Given the description of an element on the screen output the (x, y) to click on. 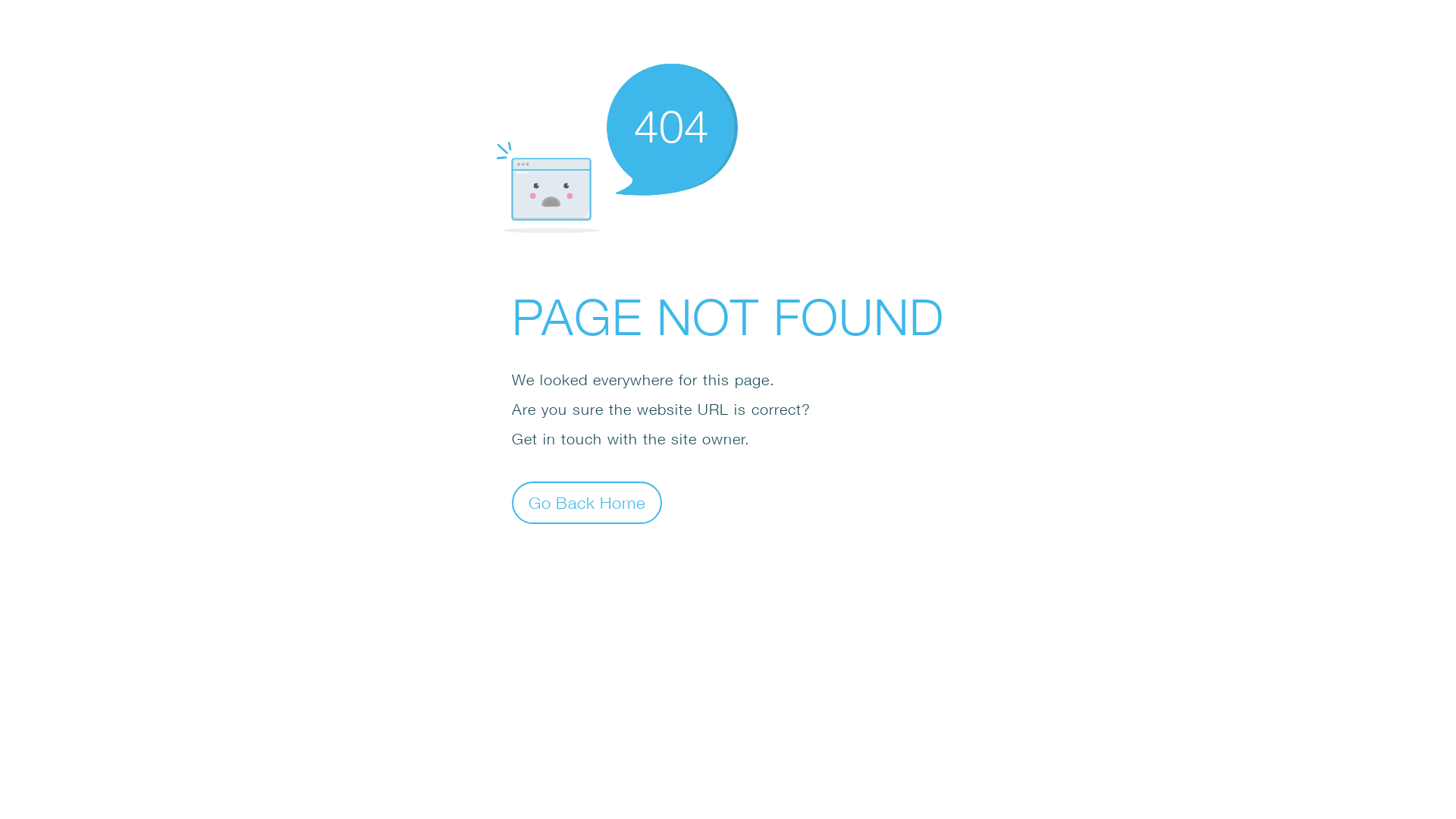
Go Back Home Element type: text (586, 502)
